Given the description of an element on the screen output the (x, y) to click on. 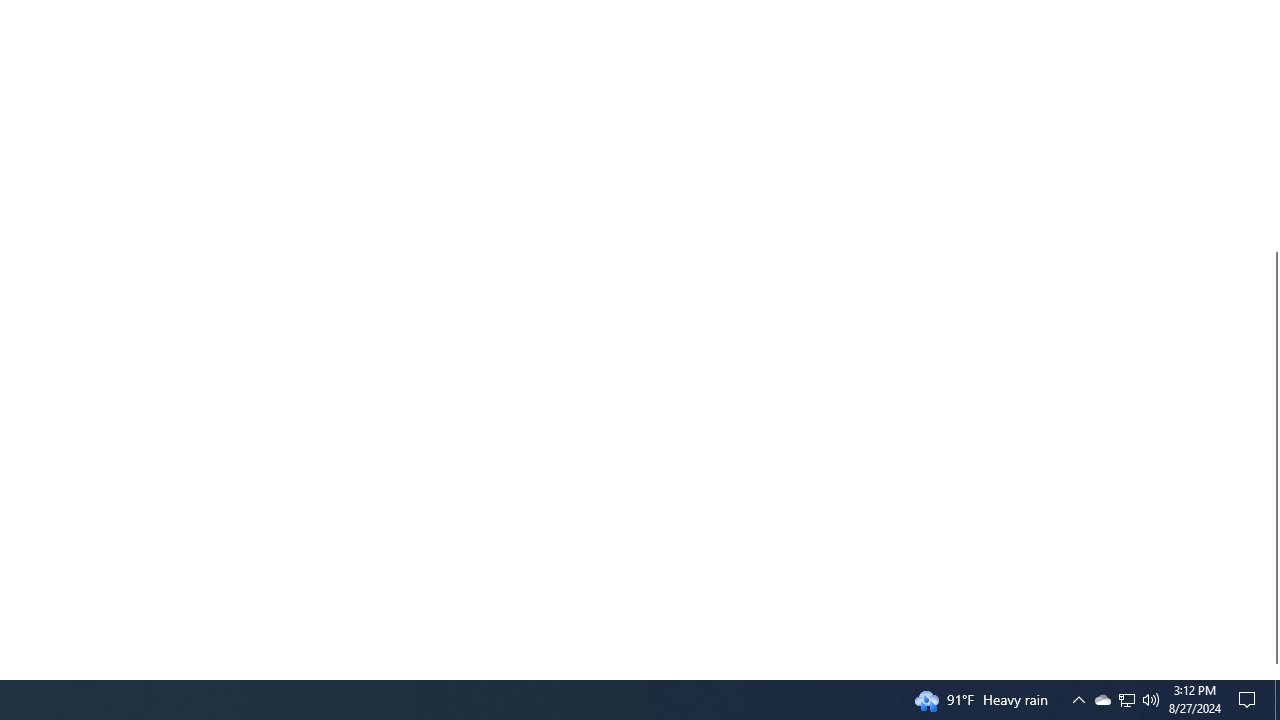
User Promoted Notification Area (1126, 699)
Action Center, No new notifications (1102, 699)
Q2790: 100% (1250, 699)
Vertical Small Increase (1126, 699)
Show desktop (1151, 699)
Notification Chevron (1272, 671)
